Given the description of an element on the screen output the (x, y) to click on. 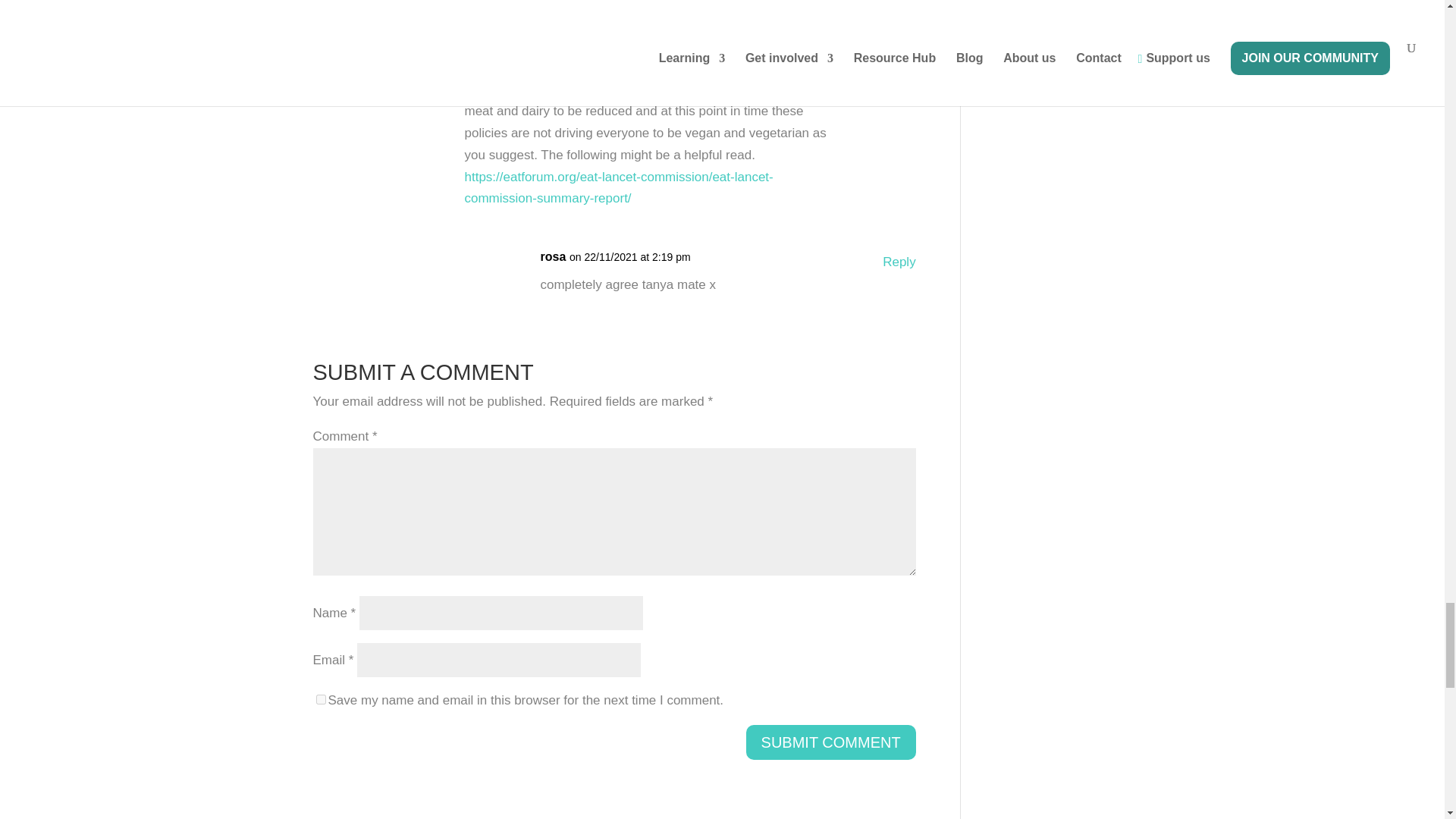
yes (319, 699)
Reply (898, 262)
Submit Comment (830, 742)
